Given the description of an element on the screen output the (x, y) to click on. 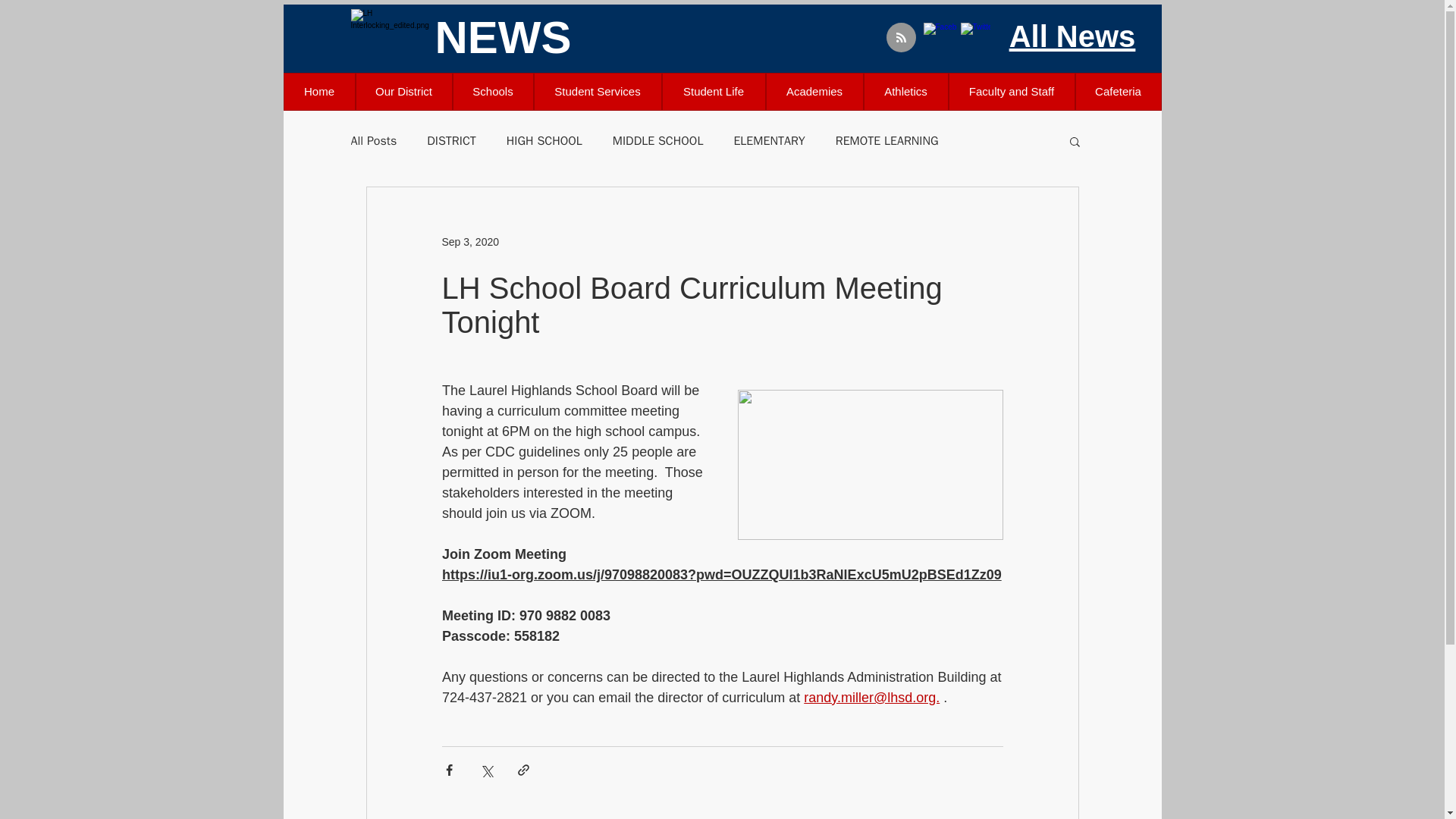
Sep 3, 2020 (470, 241)
